Given the description of an element on the screen output the (x, y) to click on. 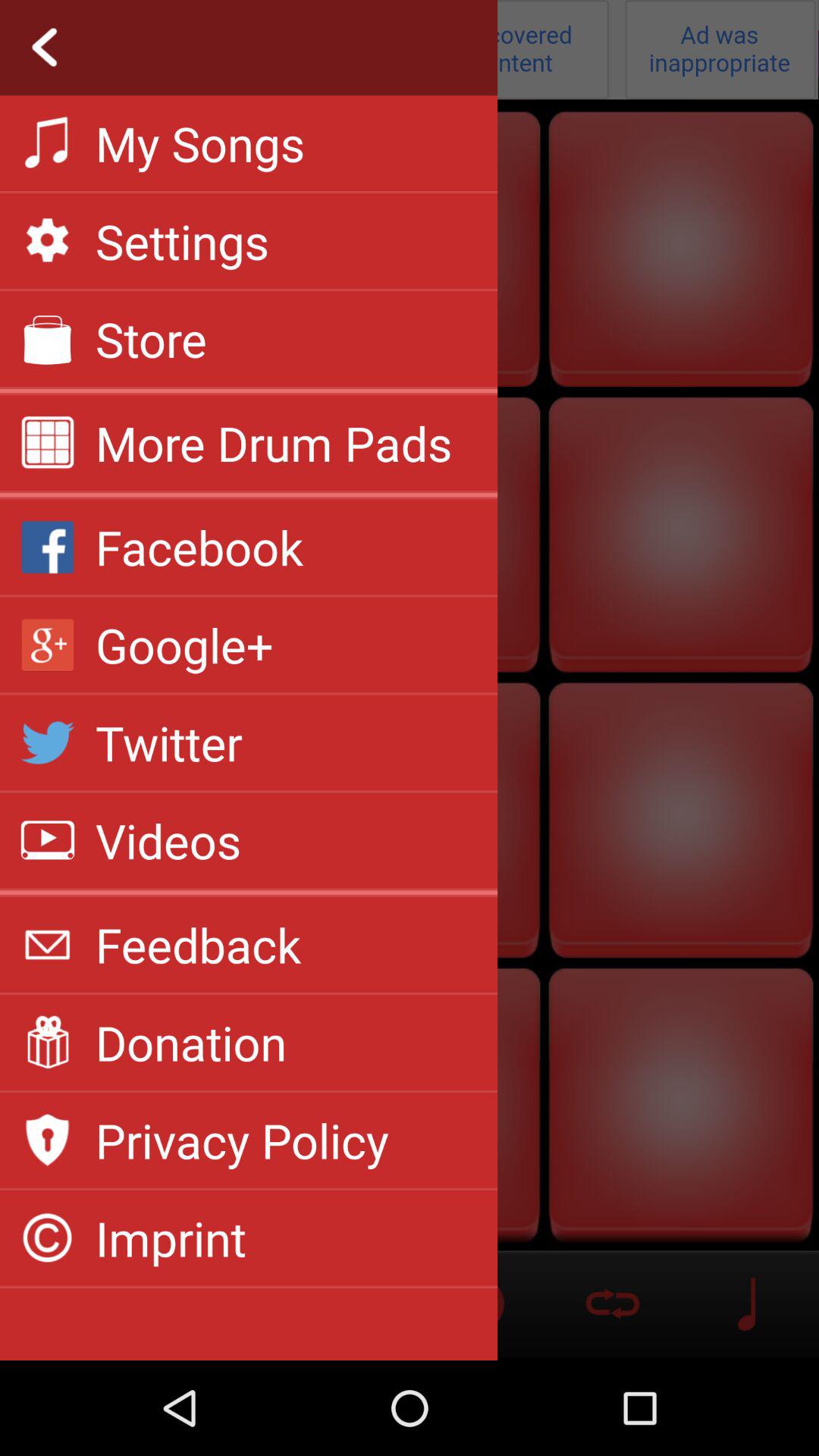
turn on the item above google+ app (199, 546)
